Given the description of an element on the screen output the (x, y) to click on. 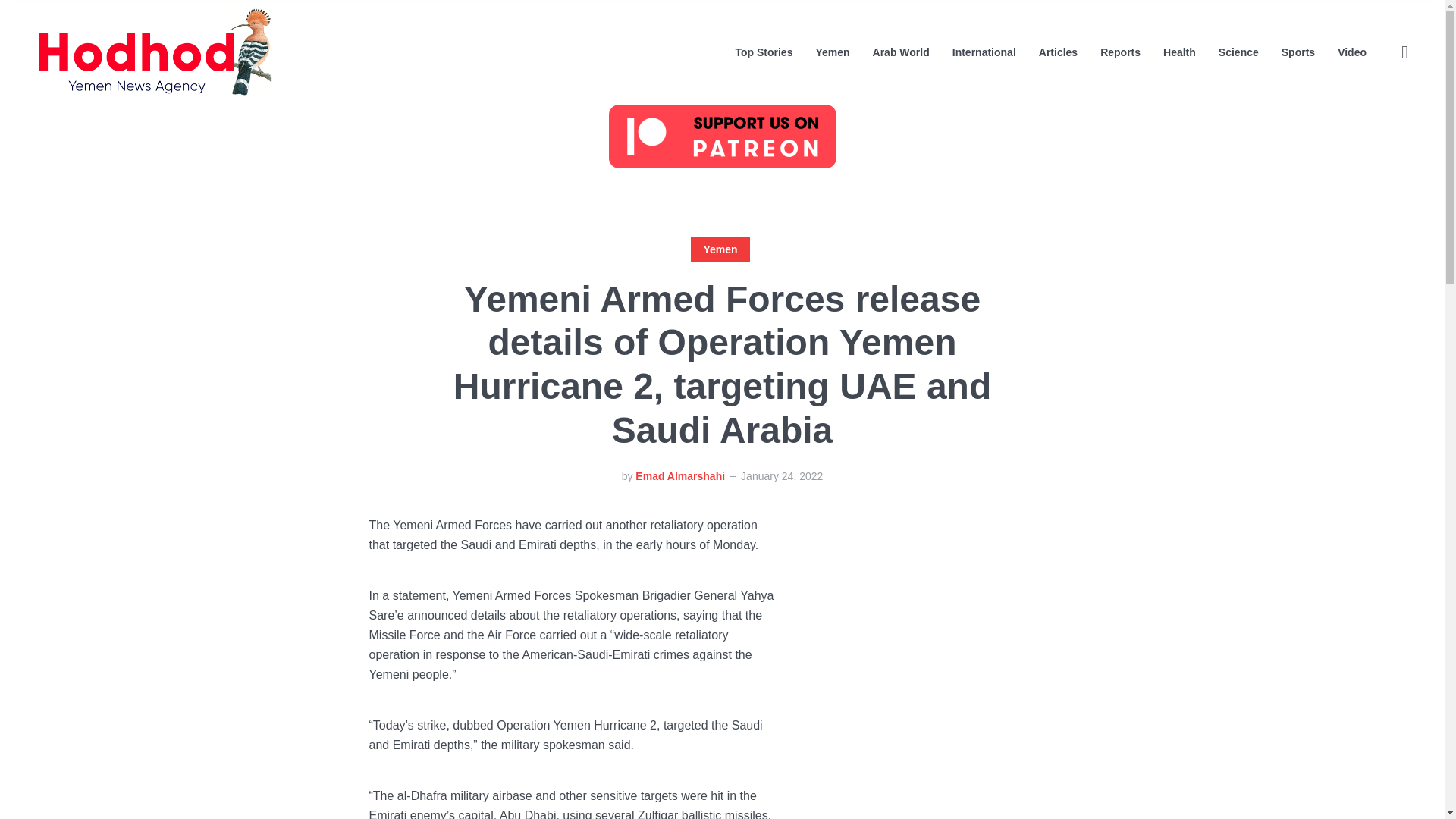
International (984, 52)
Reports (1120, 52)
Arab World (901, 52)
Emad Almarshahi (679, 476)
Science (1238, 52)
Articles (1058, 52)
Top Stories (763, 52)
Yemen (719, 249)
Yemen (831, 52)
